Given the description of an element on the screen output the (x, y) to click on. 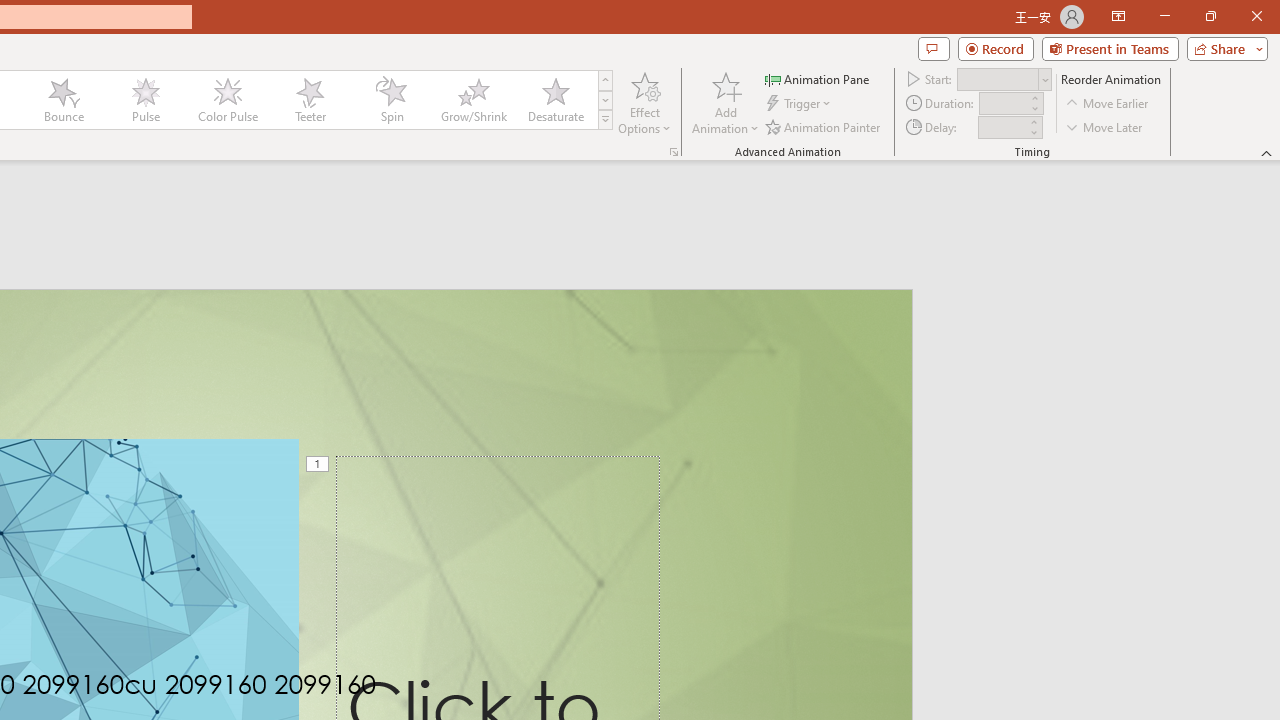
Pulse (145, 100)
Animation Styles (605, 120)
Animation Pane (818, 78)
Bounce (63, 100)
Less (1033, 132)
Move Later (1105, 126)
Effect Options (644, 102)
Grow/Shrink (473, 100)
